Given the description of an element on the screen output the (x, y) to click on. 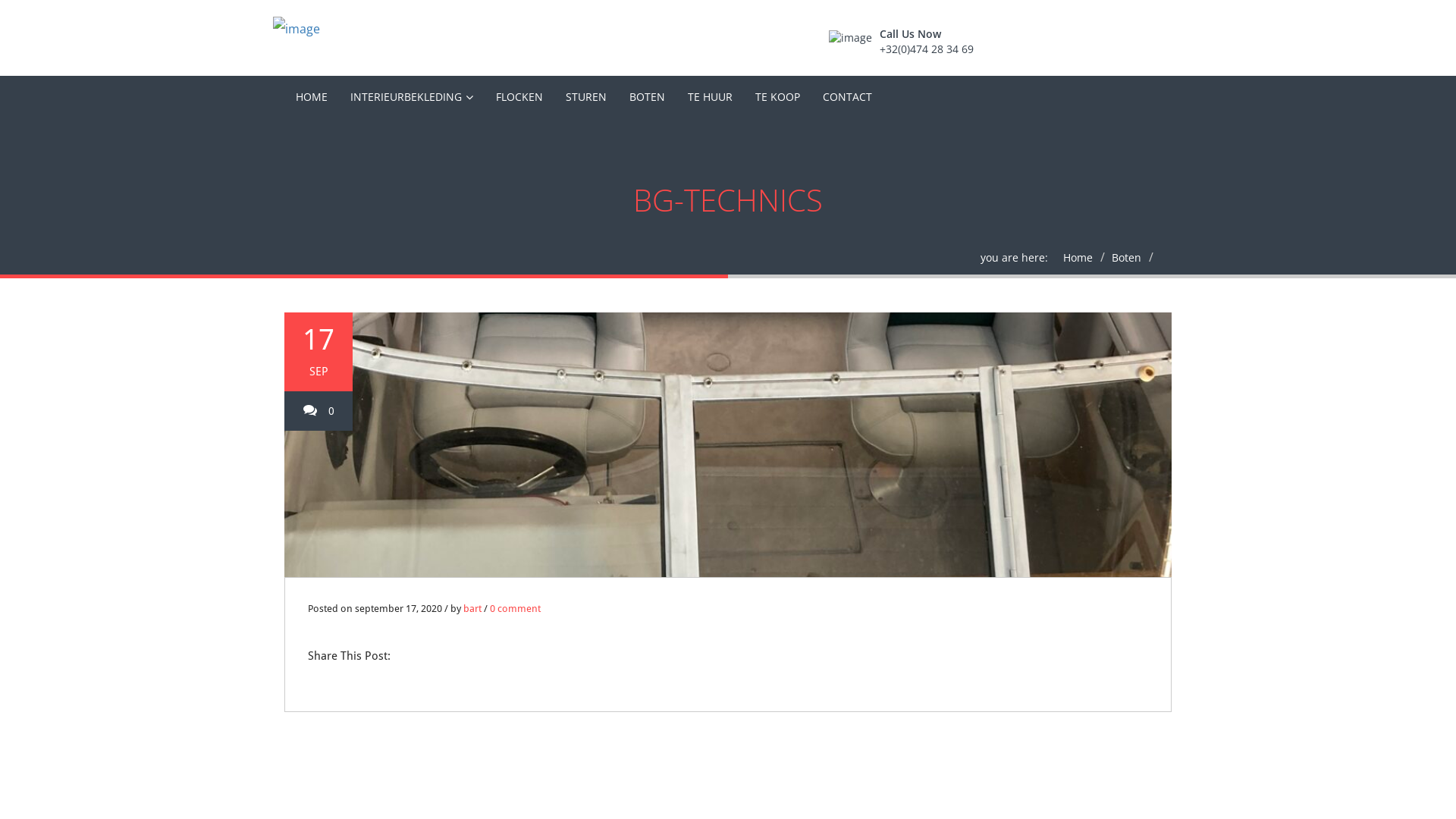
BOTEN Element type: text (647, 96)
Boten Element type: text (1126, 257)
INTERIEURBEKLEDING Element type: text (411, 96)
0 comment Element type: text (514, 608)
CONTACT Element type: text (847, 96)
STUREN Element type: text (586, 96)
TE HUUR Element type: text (709, 96)
bart Element type: text (472, 608)
Home Element type: text (1077, 257)
FLOCKEN Element type: text (519, 96)
HOME Element type: text (311, 96)
TE KOOP Element type: text (777, 96)
